Given the description of an element on the screen output the (x, y) to click on. 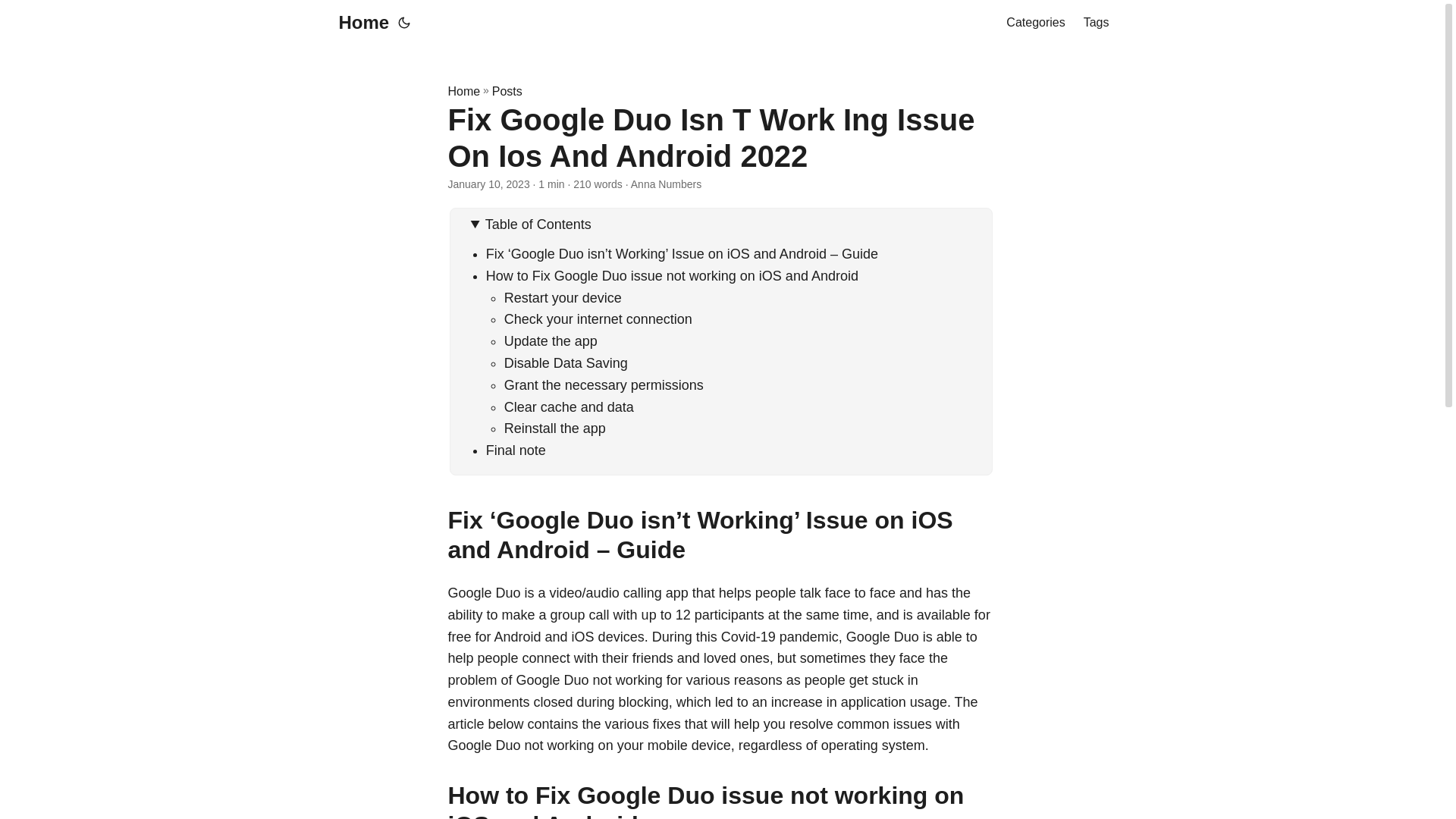
Grant the necessary permissions (603, 385)
Update the app (549, 340)
How to Fix Google Duo issue not working on iOS and Android (672, 275)
Reinstall the app (554, 427)
Disable Data Saving (565, 363)
Clear cache and data (568, 406)
Tags (1096, 22)
Home (359, 22)
Final note (516, 450)
Tags (1096, 22)
Categories (1035, 22)
Check your internet connection (598, 319)
Categories (1035, 22)
Restart your device (562, 297)
Posts (507, 91)
